Given the description of an element on the screen output the (x, y) to click on. 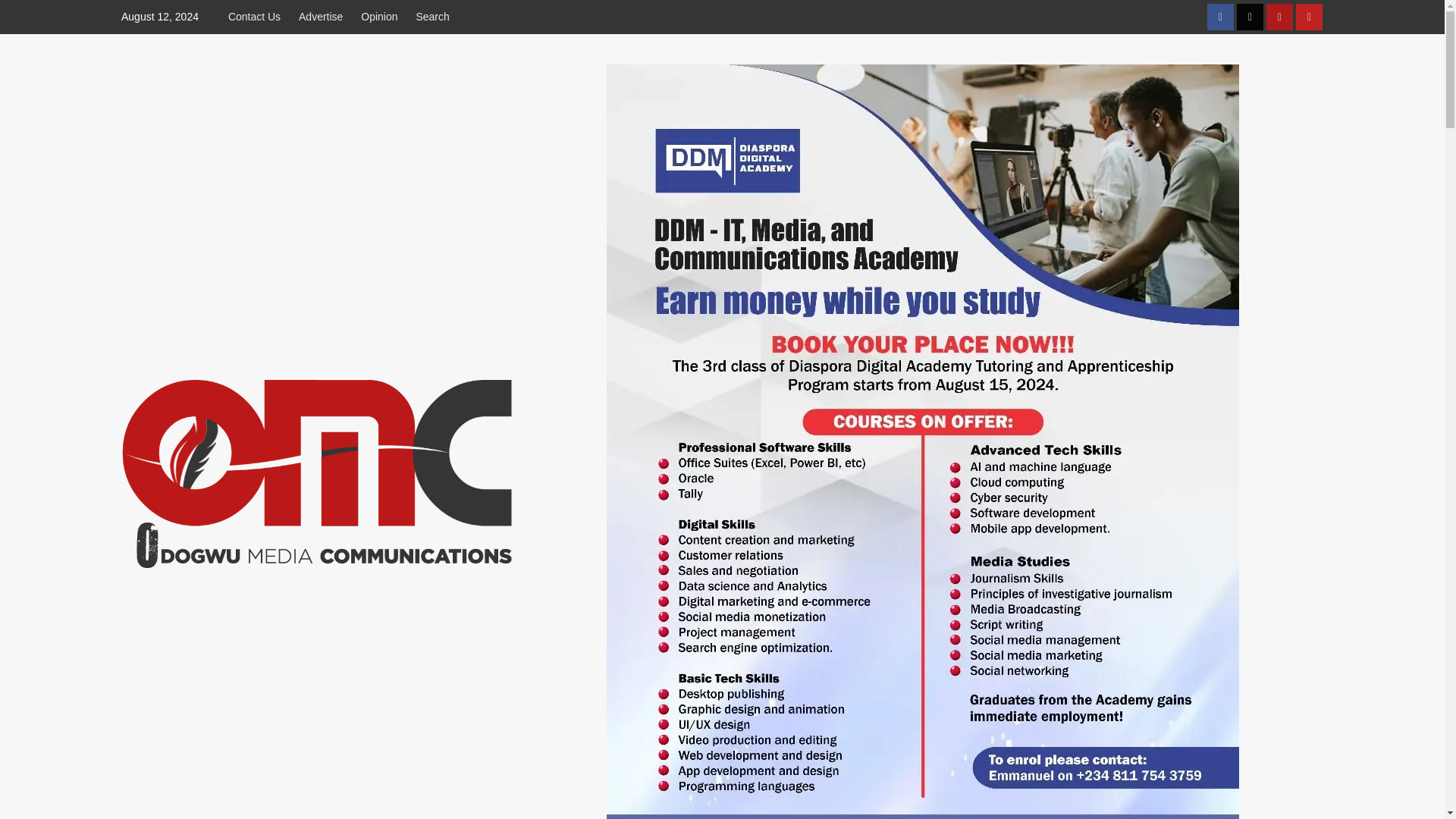
Telegram (1279, 17)
Contact Us (258, 17)
Advertise (320, 17)
Facebook (1220, 17)
Search (432, 17)
Opinion (378, 17)
YouTube (1308, 17)
Twitter (1249, 17)
